Given the description of an element on the screen output the (x, y) to click on. 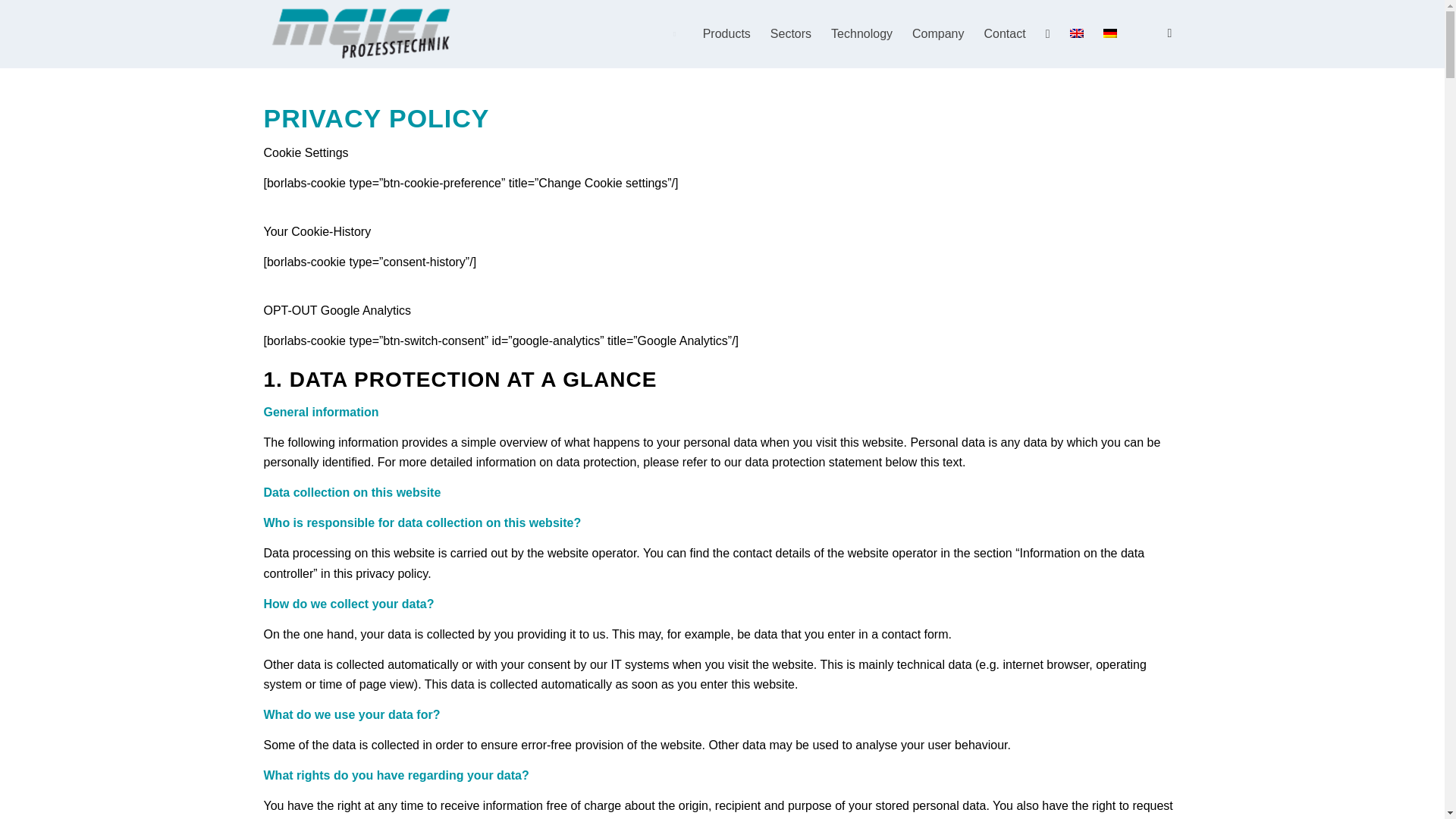
Technology (861, 33)
Mail (1169, 33)
meier-prozesstechnik-logo-300 (363, 33)
Deutsch (1109, 32)
Products (726, 33)
Company (938, 33)
Contact (1004, 33)
English (1075, 32)
Sectors (790, 33)
